Given the description of an element on the screen output the (x, y) to click on. 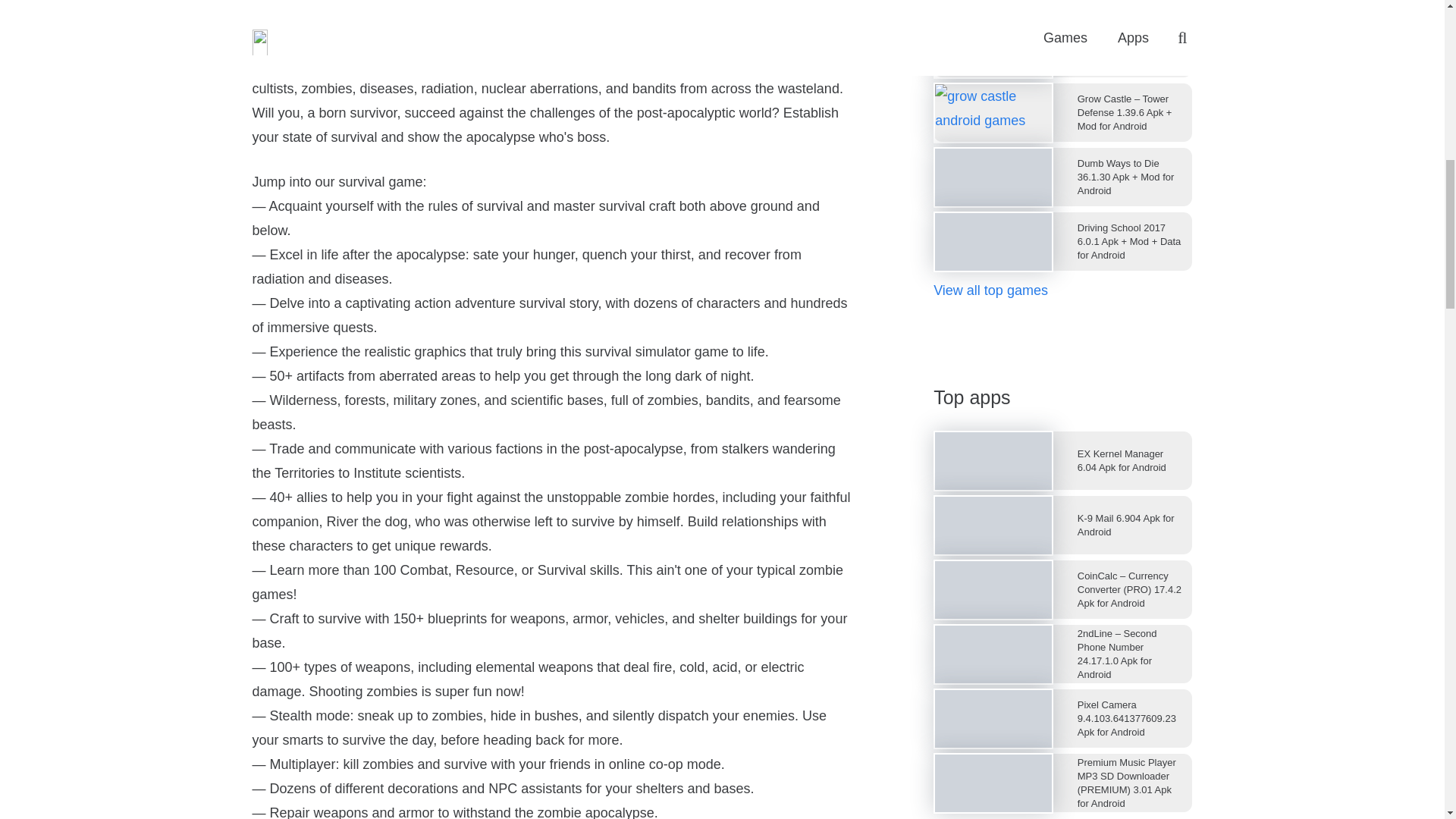
2ndLine - Second Phone Number 24.17.1.0 Apk for Android 11 (992, 654)
Pixel Camera 9.4.103.641377609.23 Apk for Android 12 (992, 718)
K-9 Mail 6.904 Apk for Android 9 (992, 525)
EX Kernel Manager 6.04 Apk for Android 8 (992, 460)
